Given the description of an element on the screen output the (x, y) to click on. 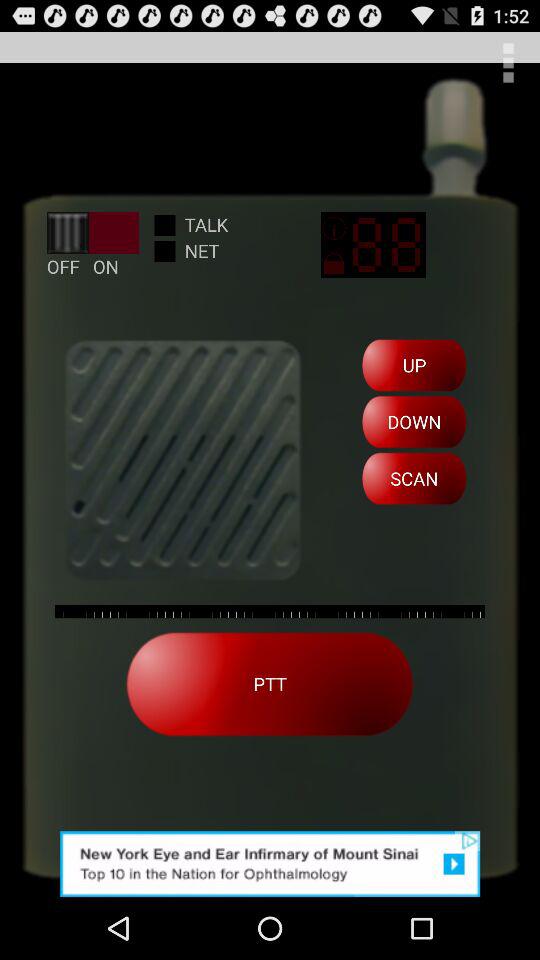
advertisement (270, 864)
